Given the description of an element on the screen output the (x, y) to click on. 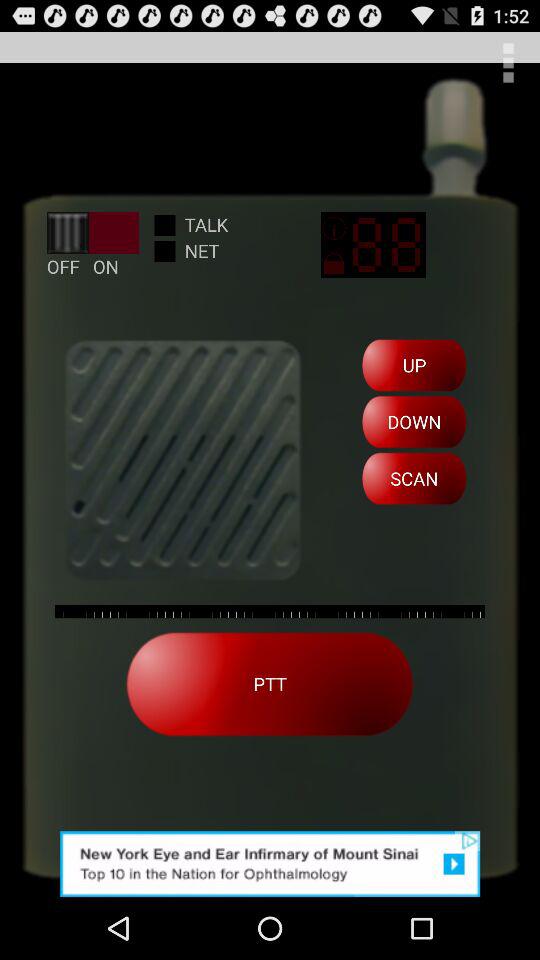
advertisement (270, 864)
